Given the description of an element on the screen output the (x, y) to click on. 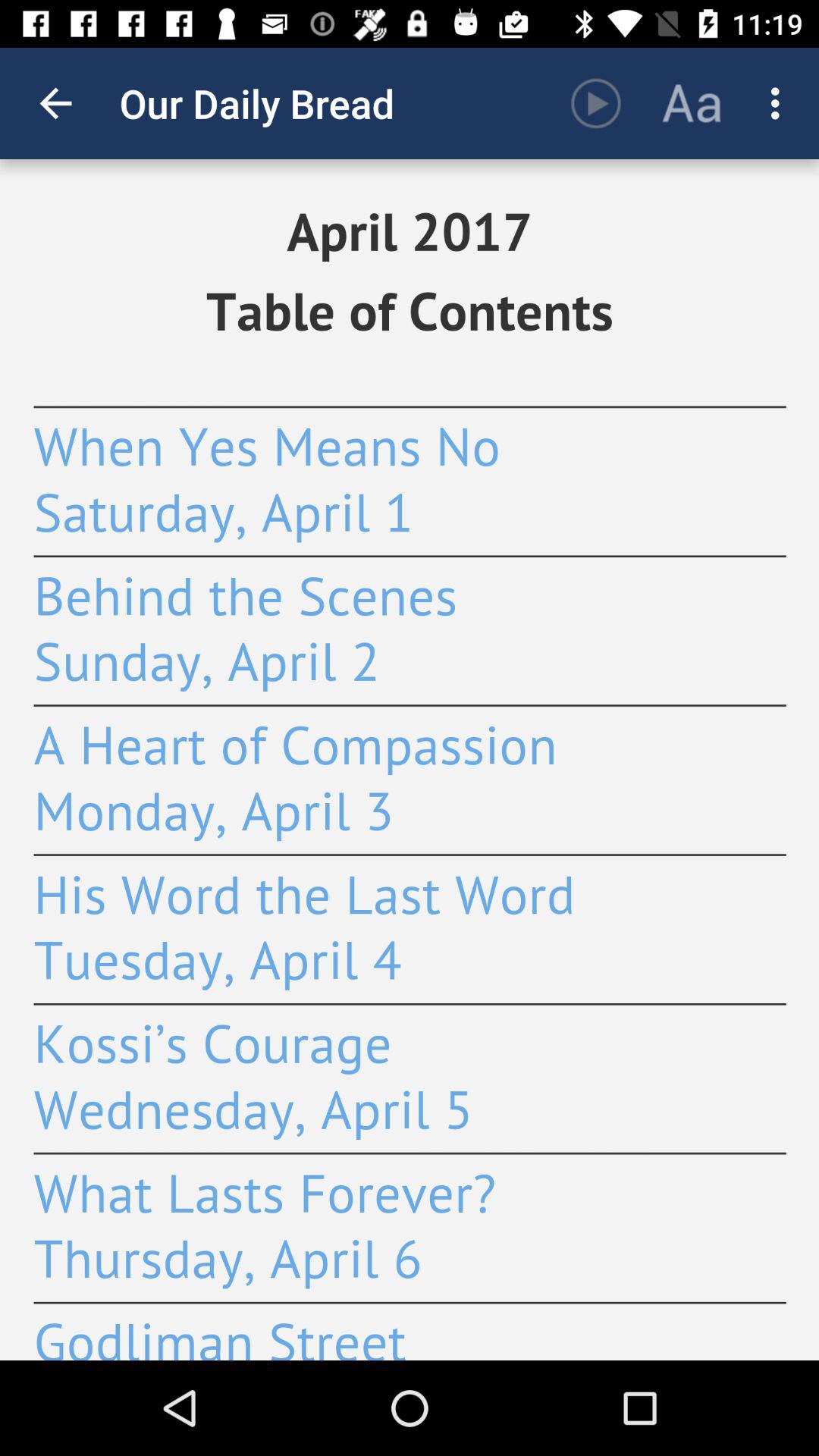
turn off the item to the right of our daily bread app (595, 103)
